Given the description of an element on the screen output the (x, y) to click on. 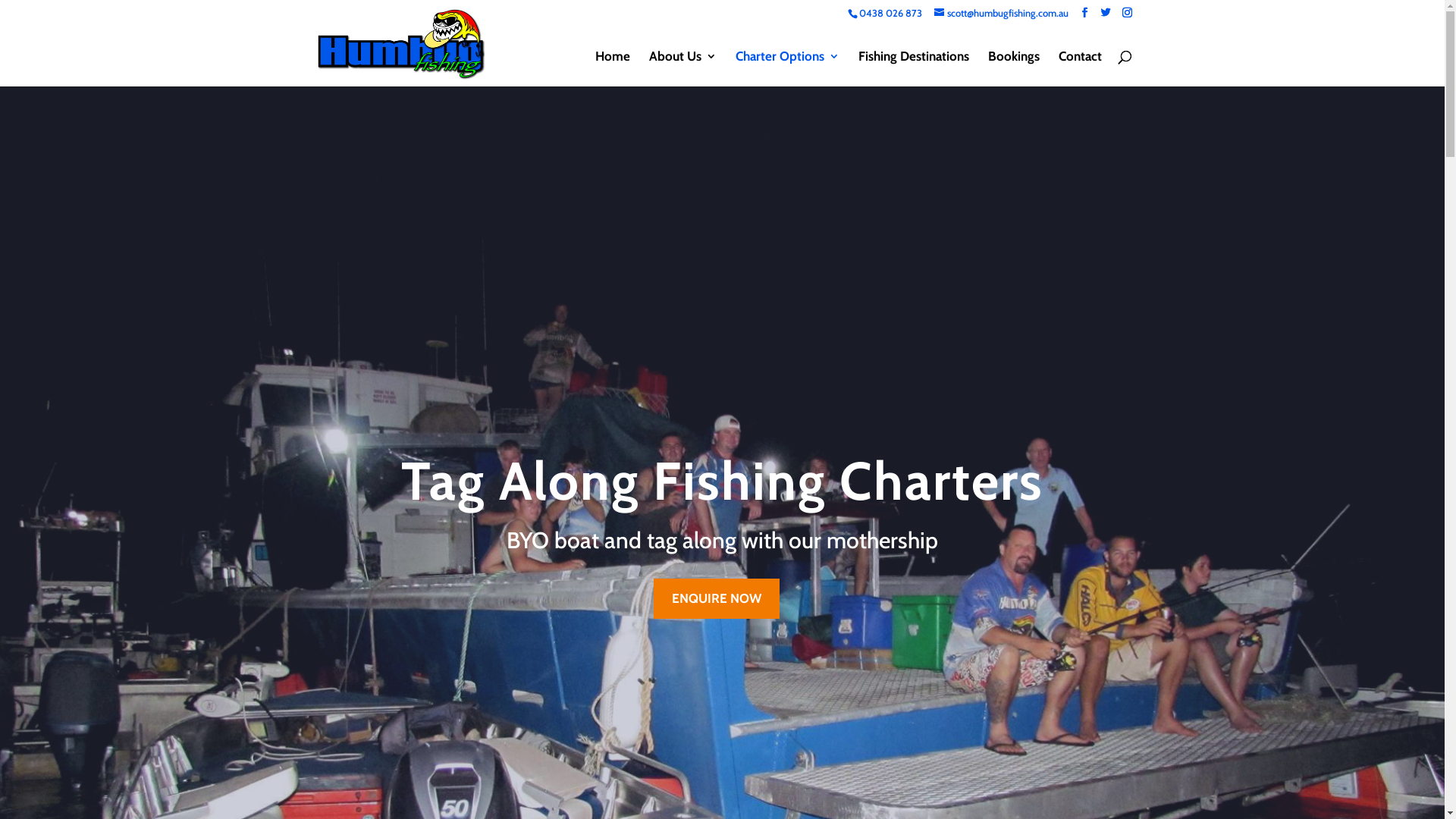
Bookings Element type: text (1012, 67)
About Us Element type: text (682, 67)
Charter Options Element type: text (787, 67)
Home Element type: text (611, 67)
scott@humbugfishing.com.au Element type: text (1001, 12)
Contact Element type: text (1079, 67)
ENQUIRE NOW Element type: text (716, 598)
Fishing Destinations Element type: text (913, 67)
